Given the description of an element on the screen output the (x, y) to click on. 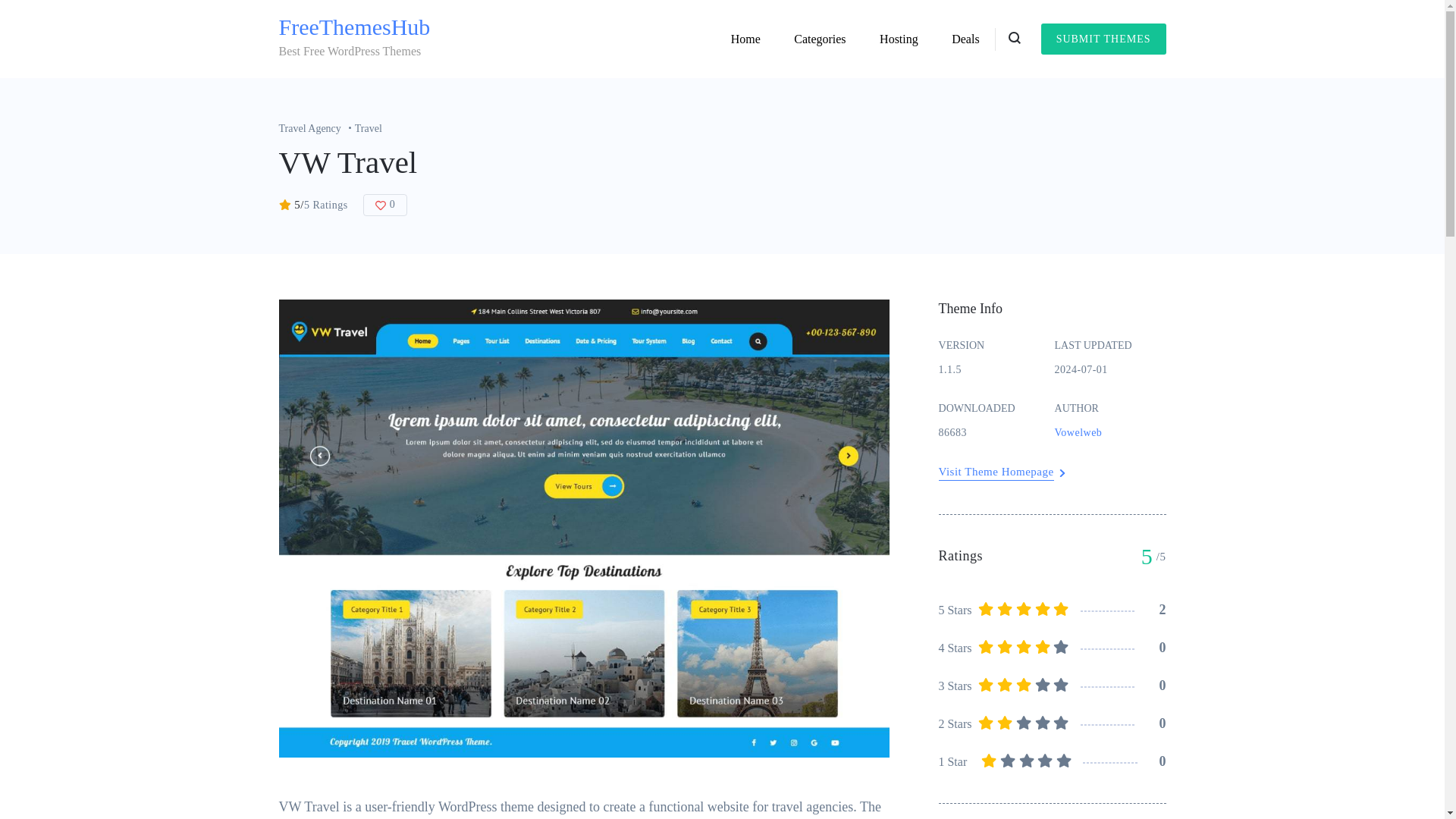
Categories (819, 39)
Visit Theme Homepage (996, 472)
0 (384, 205)
FreeThemesHub (354, 26)
Travel (368, 128)
Home (746, 39)
SUBMIT THEMES (1103, 39)
Deals (965, 39)
Search (882, 412)
Travel Agency (317, 128)
Hosting (898, 39)
Vowelweb (1110, 441)
